Given the description of an element on the screen output the (x, y) to click on. 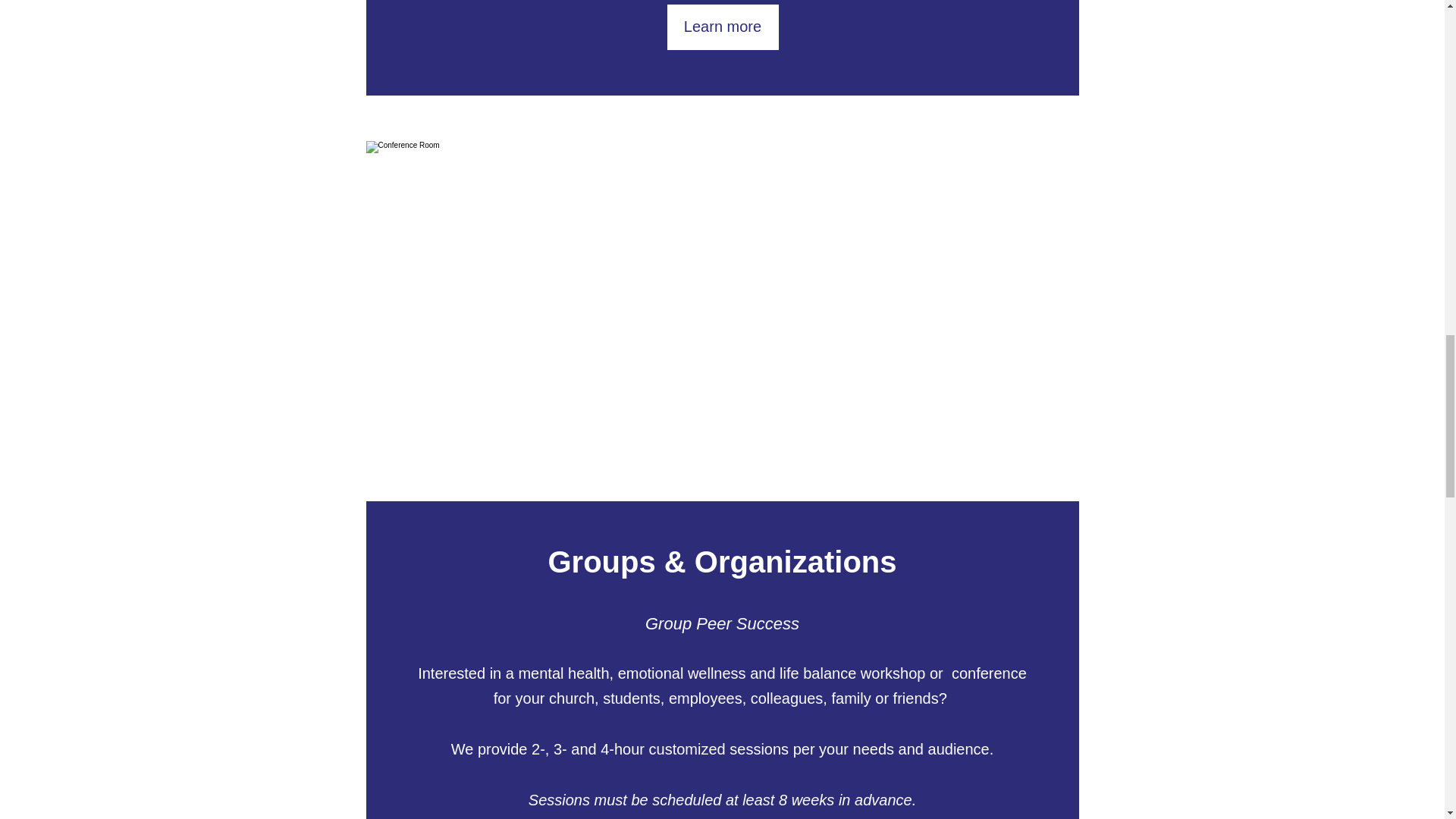
Learn more (722, 26)
